Given the description of an element on the screen output the (x, y) to click on. 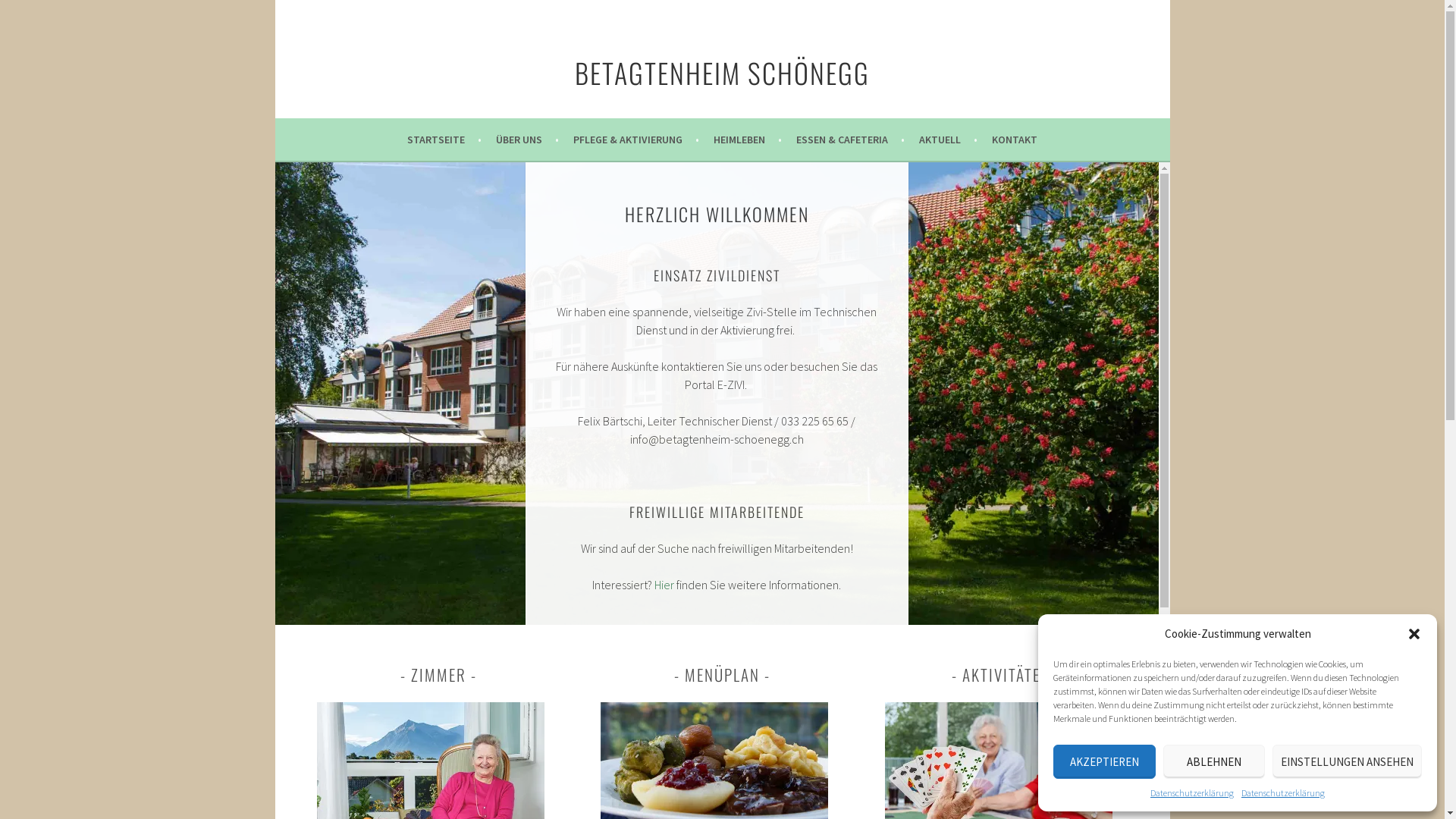
Hier Element type: text (664, 584)
PFLEGE & AKTIVIERUNG Element type: text (636, 139)
AKTUELL Element type: text (948, 139)
HEIMLEBEN Element type: text (747, 139)
EINSTELLUNGEN ANSEHEN Element type: text (1346, 761)
ESSEN & CAFETERIA Element type: text (850, 139)
AKZEPTIEREN Element type: text (1104, 761)
KONTAKT Element type: text (1014, 139)
ABLEHNEN Element type: text (1214, 761)
STARTSEITE Element type: text (444, 139)
